Given the description of an element on the screen output the (x, y) to click on. 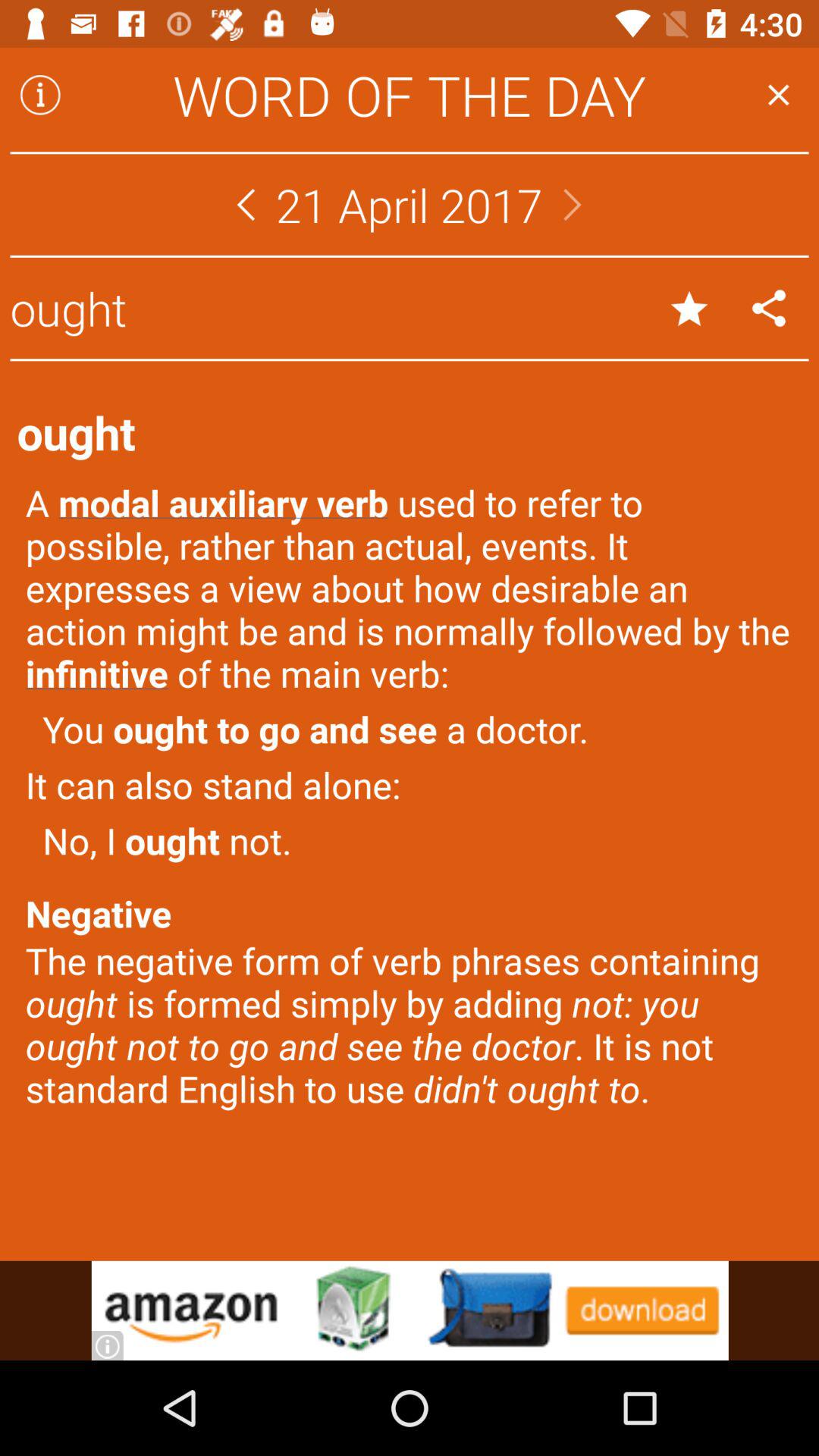
advertisement (409, 1310)
